Given the description of an element on the screen output the (x, y) to click on. 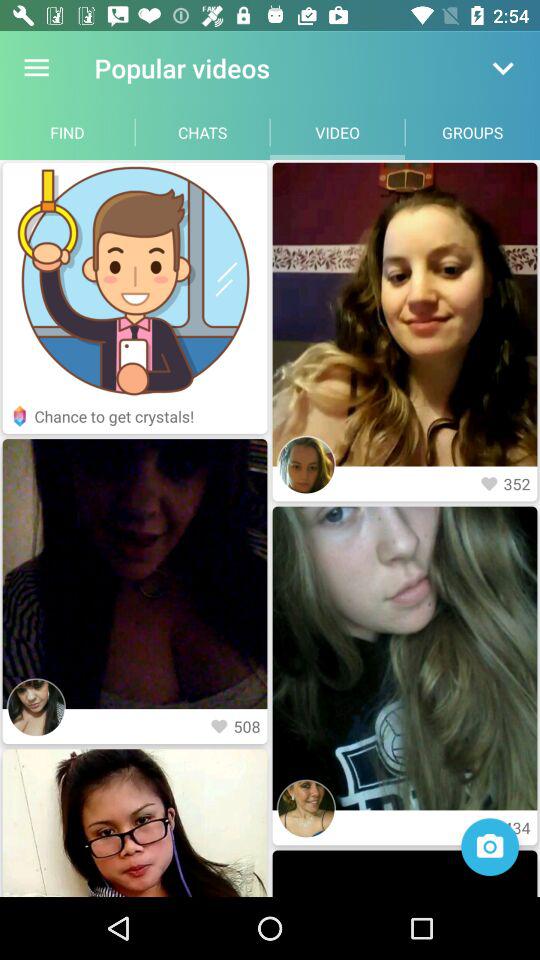
turn off the item above the find icon (36, 68)
